Given the description of an element on the screen output the (x, y) to click on. 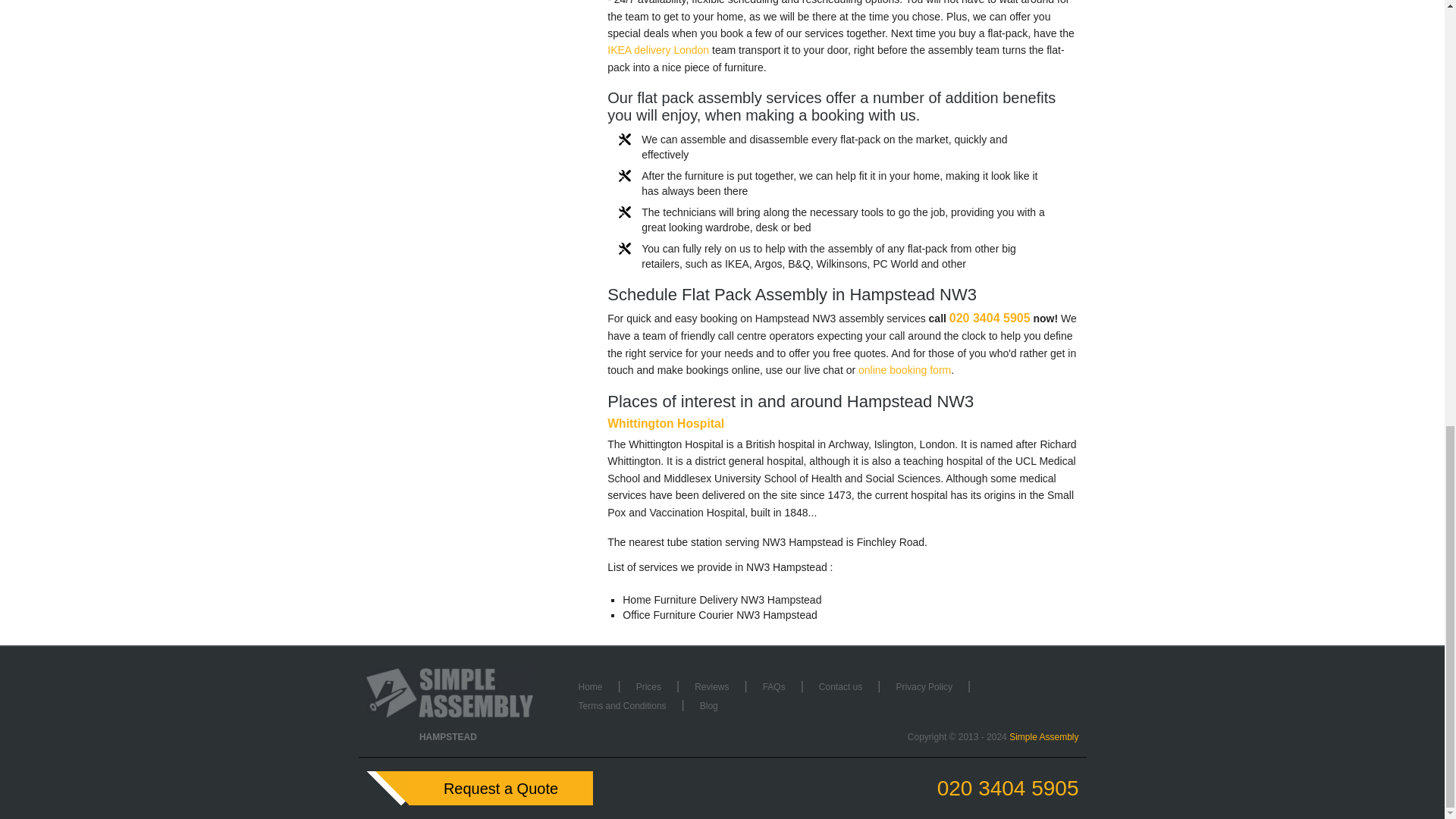
FAQs (774, 686)
Request a Quote (478, 788)
Contact us (840, 686)
Prices (649, 686)
IKEA delivery London (658, 50)
Whittington Hospital (665, 422)
Home (589, 686)
Terms and Conditions (621, 706)
Blog (708, 706)
online booking form (904, 369)
